Given the description of an element on the screen output the (x, y) to click on. 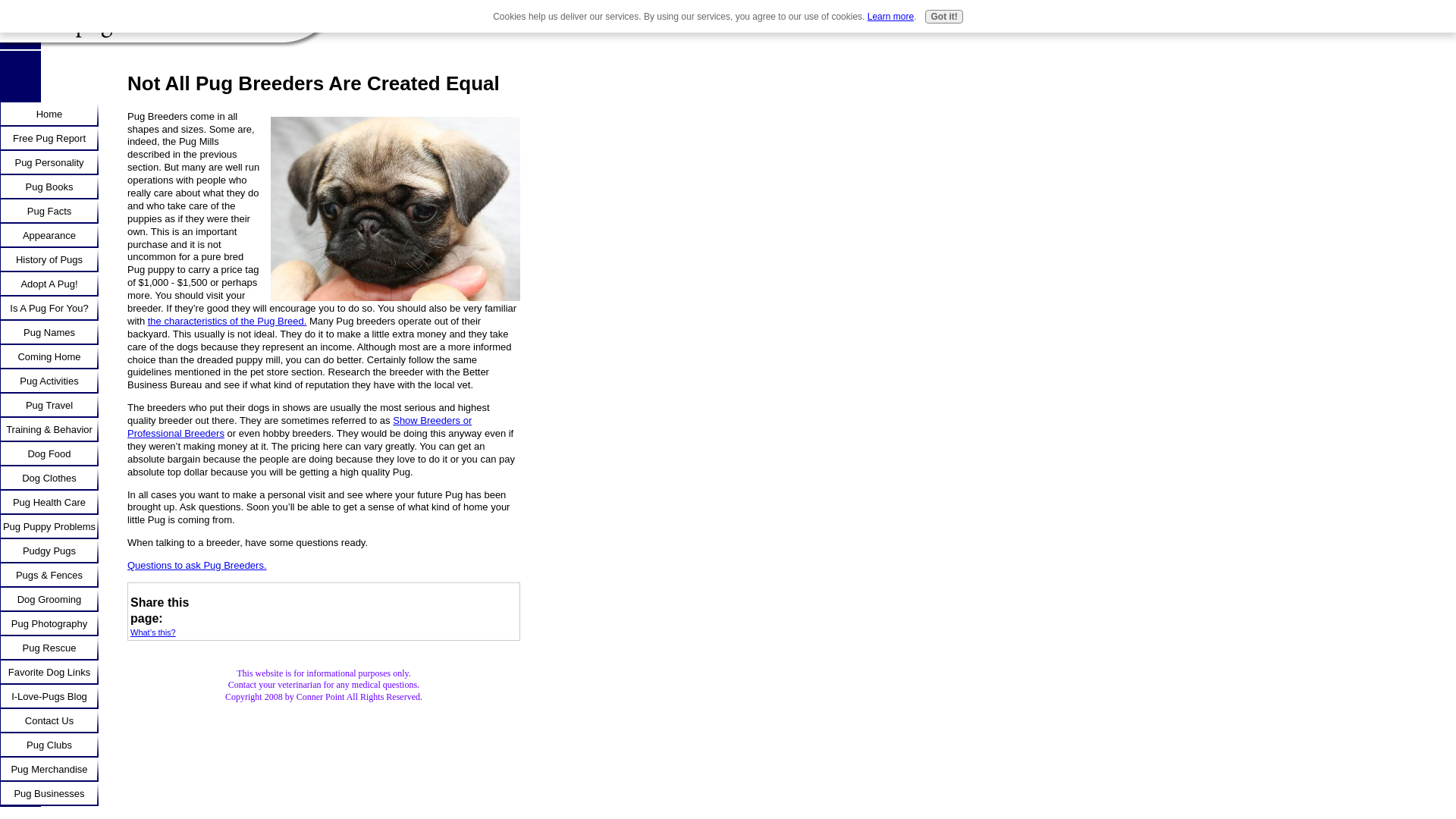
Pug Activities (49, 381)
Got it! (943, 16)
Pug Puppy Problems (49, 526)
Learn more (890, 16)
Pug Rescue (49, 648)
Dog Grooming (49, 599)
Is A Pug For You? (49, 308)
Pudgy Pugs (49, 550)
Pug Books (49, 187)
Home (49, 114)
